Given the description of an element on the screen output the (x, y) to click on. 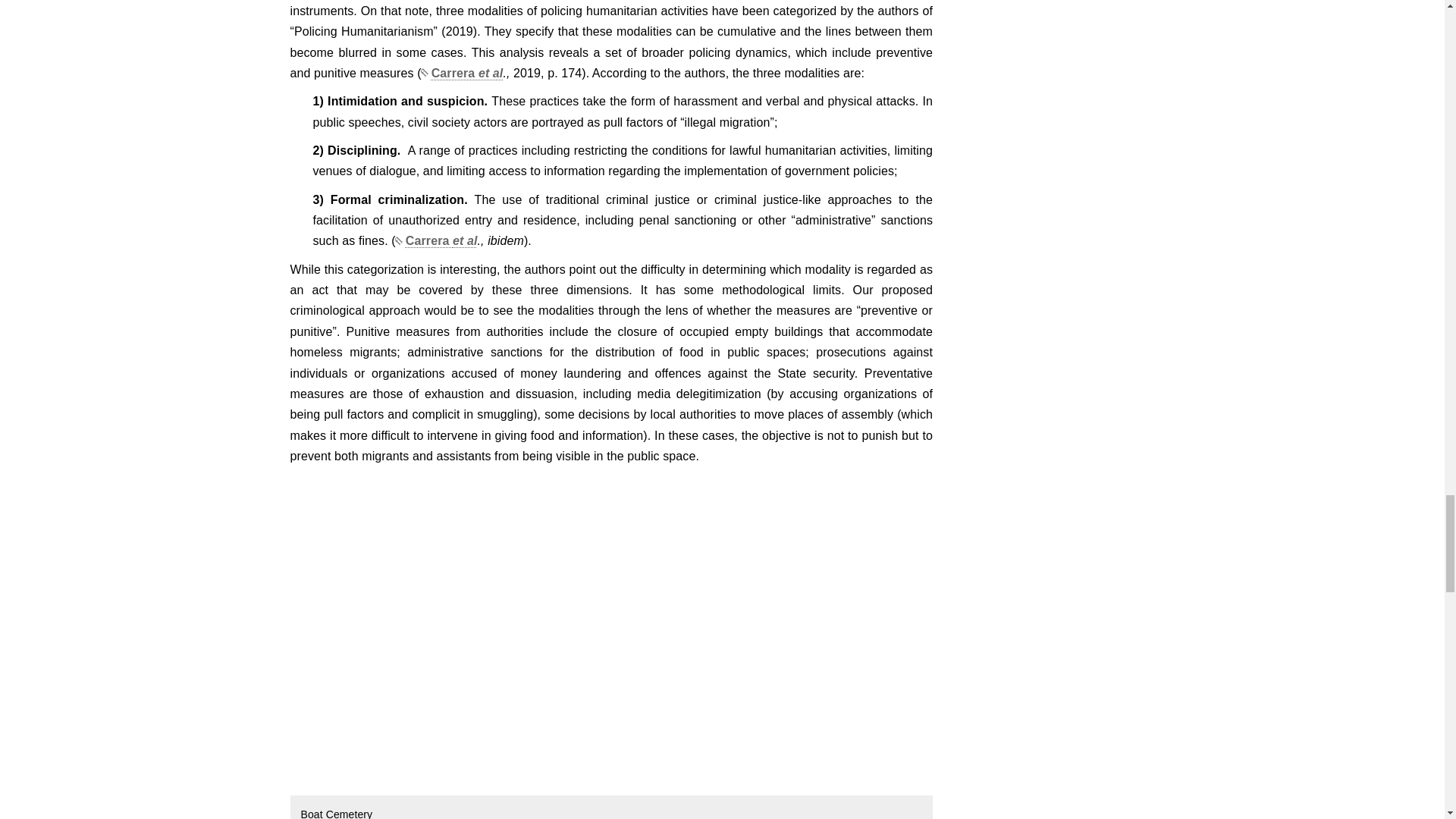
Boat Cemetery (418, 603)
